Given the description of an element on the screen output the (x, y) to click on. 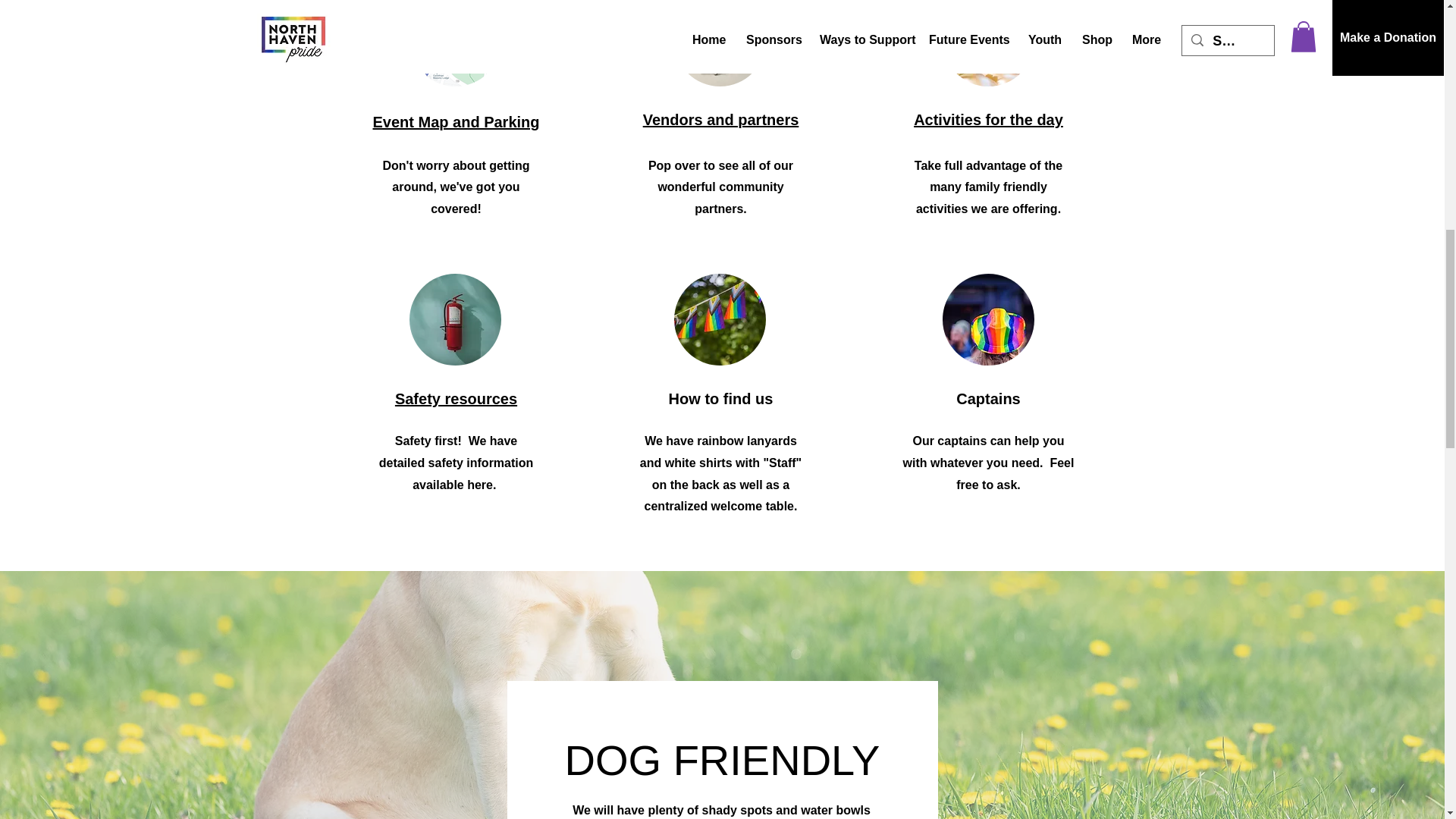
Safety resources (455, 398)
Activities for the day (988, 119)
Event Map and Parking (455, 121)
Vendors and partners (721, 119)
